Given the description of an element on the screen output the (x, y) to click on. 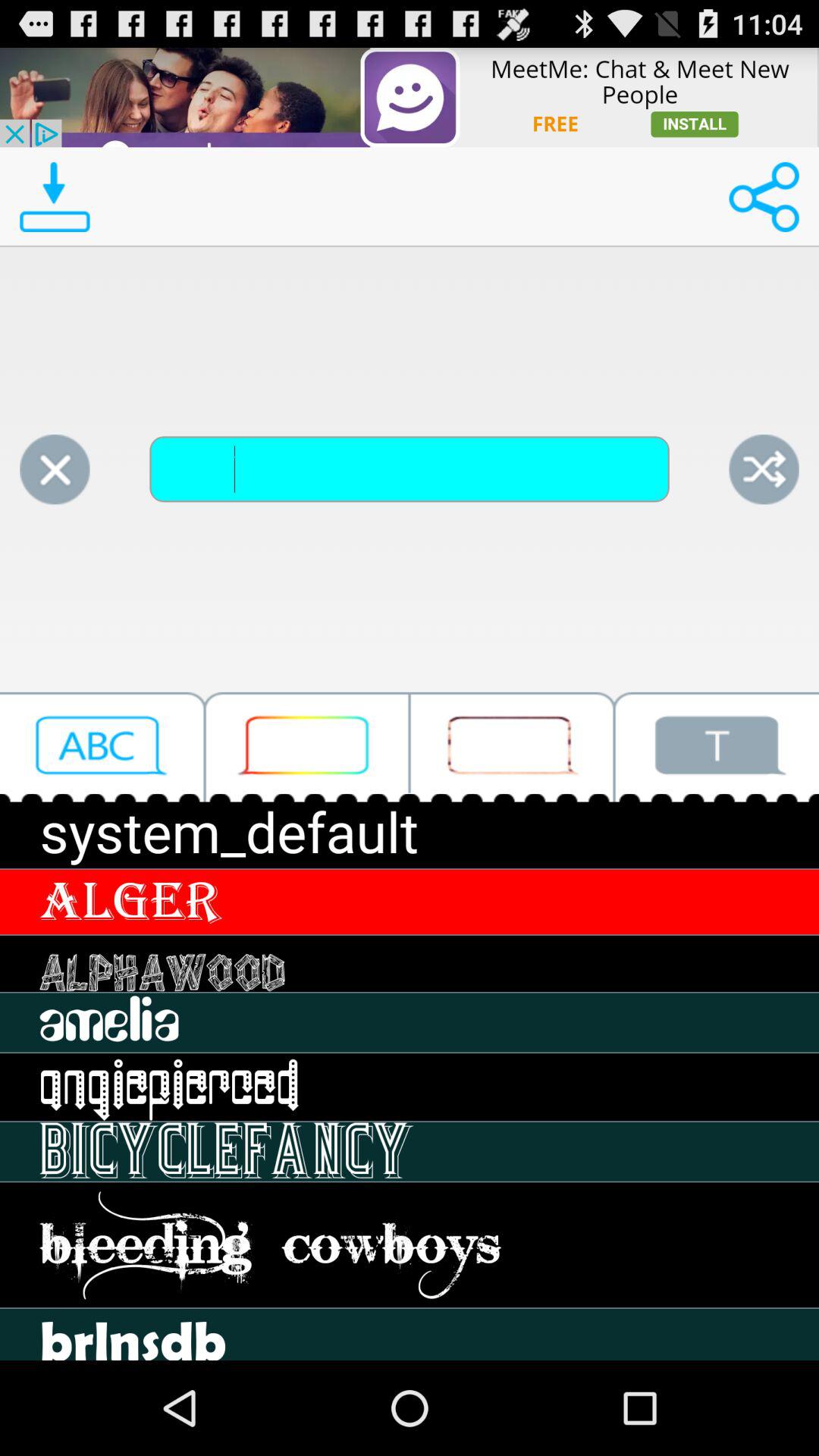
click letter button (102, 746)
